Given the description of an element on the screen output the (x, y) to click on. 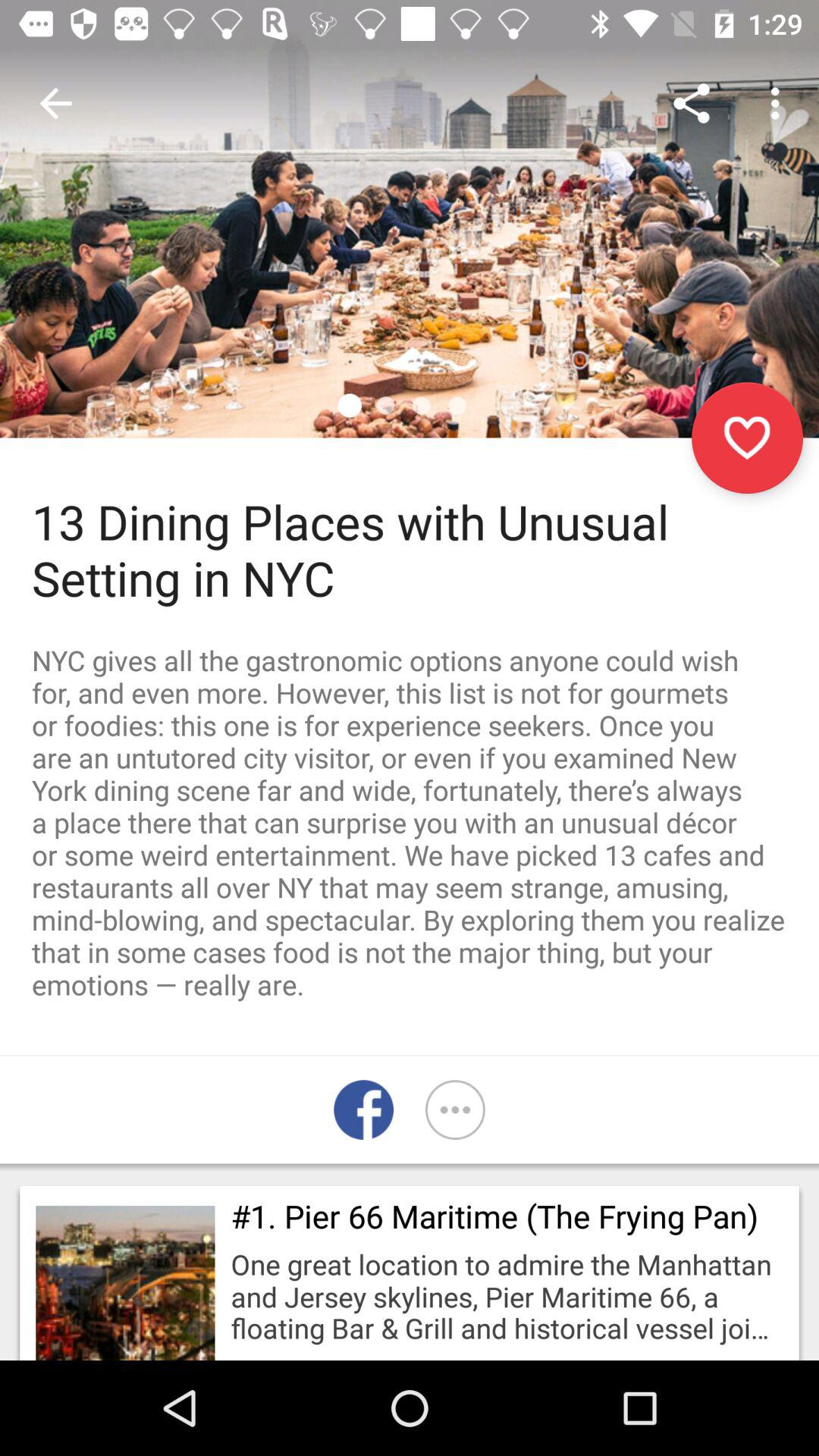
jump until the nyc gives all item (409, 822)
